Given the description of an element on the screen output the (x, y) to click on. 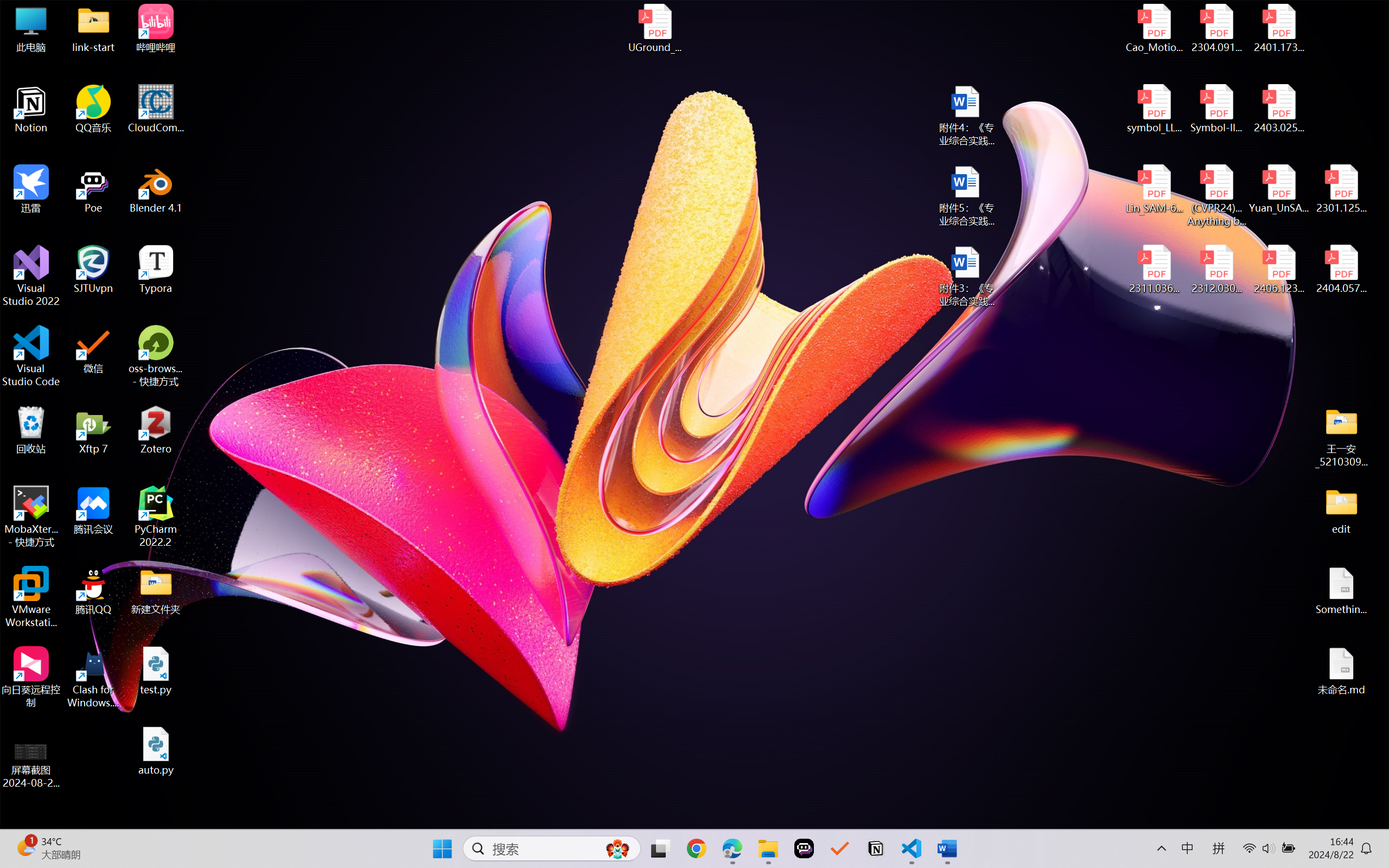
2312.03032v2.pdf (1216, 269)
CloudCompare (156, 109)
test.py (156, 670)
2403.02502v1.pdf (1278, 109)
Visual Studio 2022 (31, 276)
2301.12597v3.pdf (1340, 189)
